Given the description of an element on the screen output the (x, y) to click on. 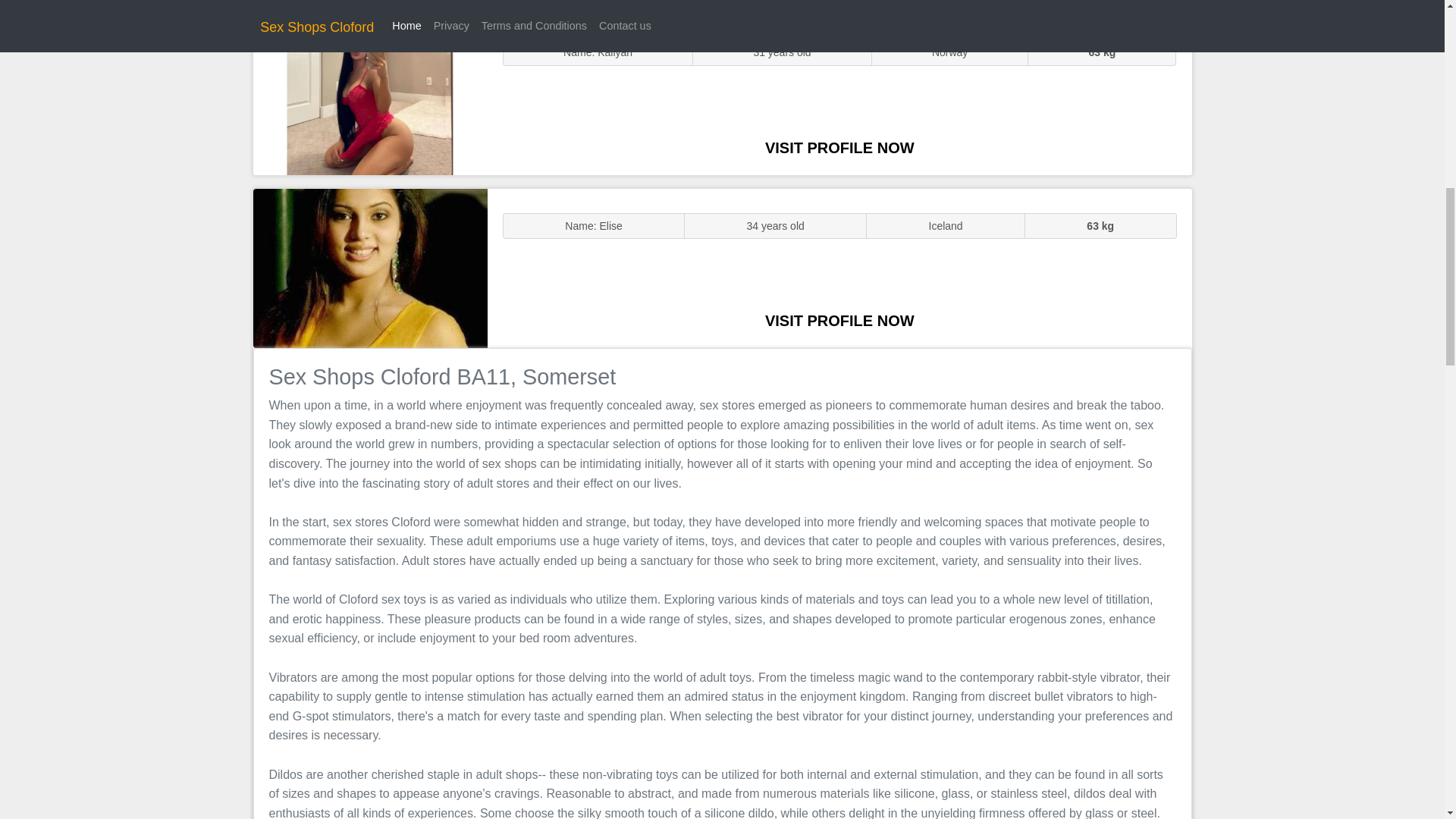
Massage (370, 267)
VISIT PROFILE NOW (839, 147)
VISIT PROFILE NOW (839, 320)
Sluts (370, 94)
